Given the description of an element on the screen output the (x, y) to click on. 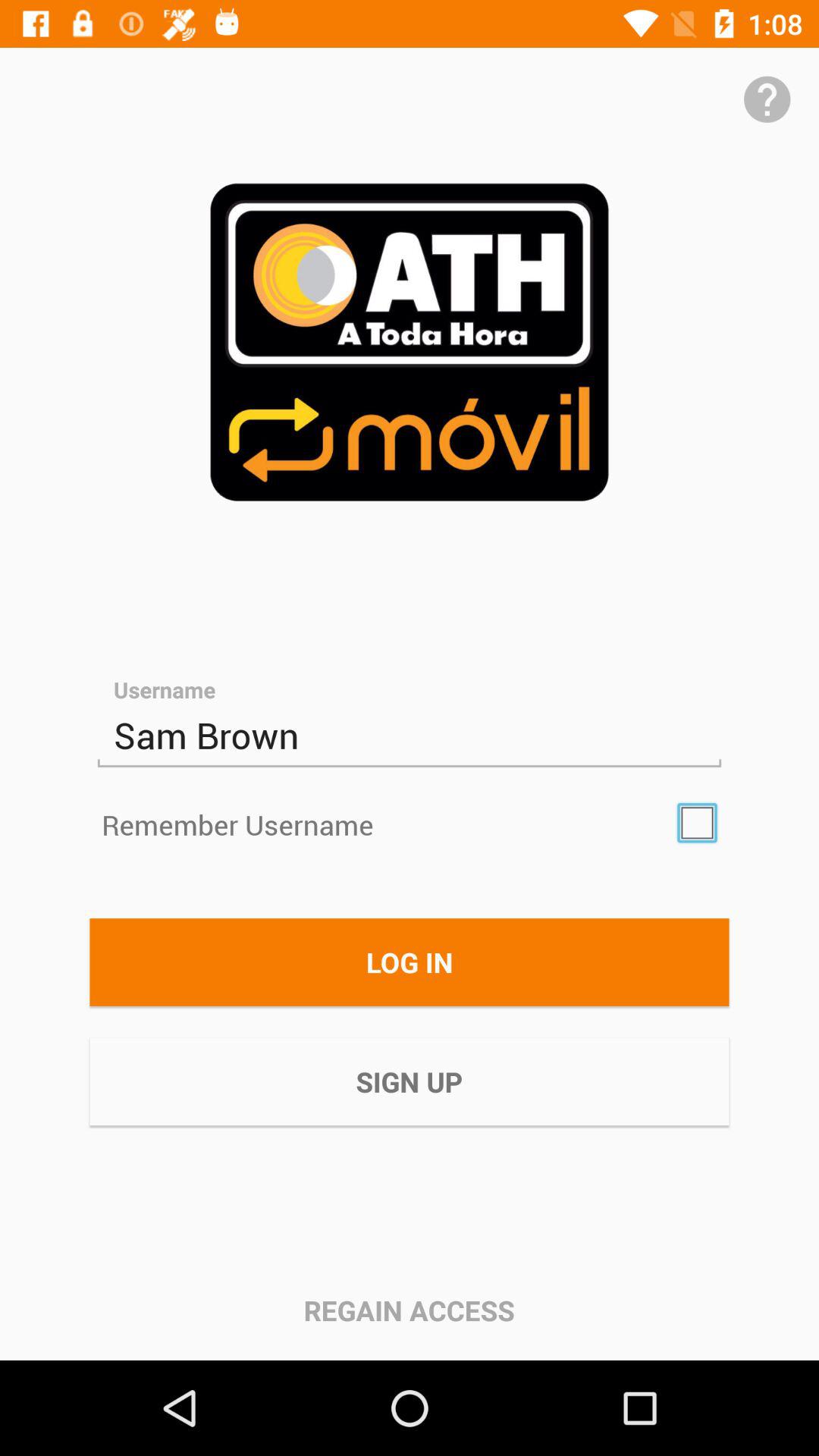
launch the sign up icon (409, 1081)
